Given the description of an element on the screen output the (x, y) to click on. 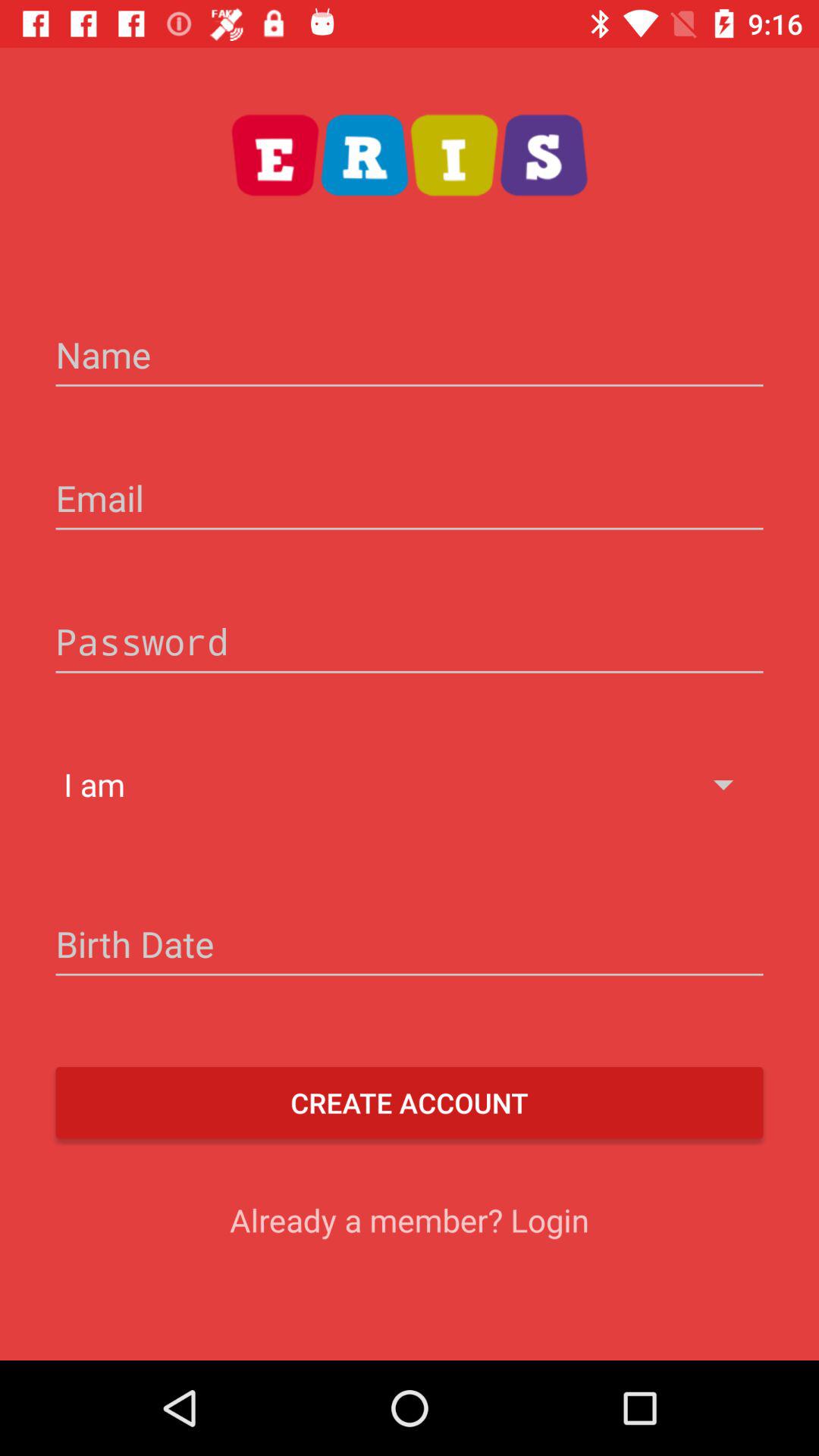
open already a member item (409, 1219)
